Given the description of an element on the screen output the (x, y) to click on. 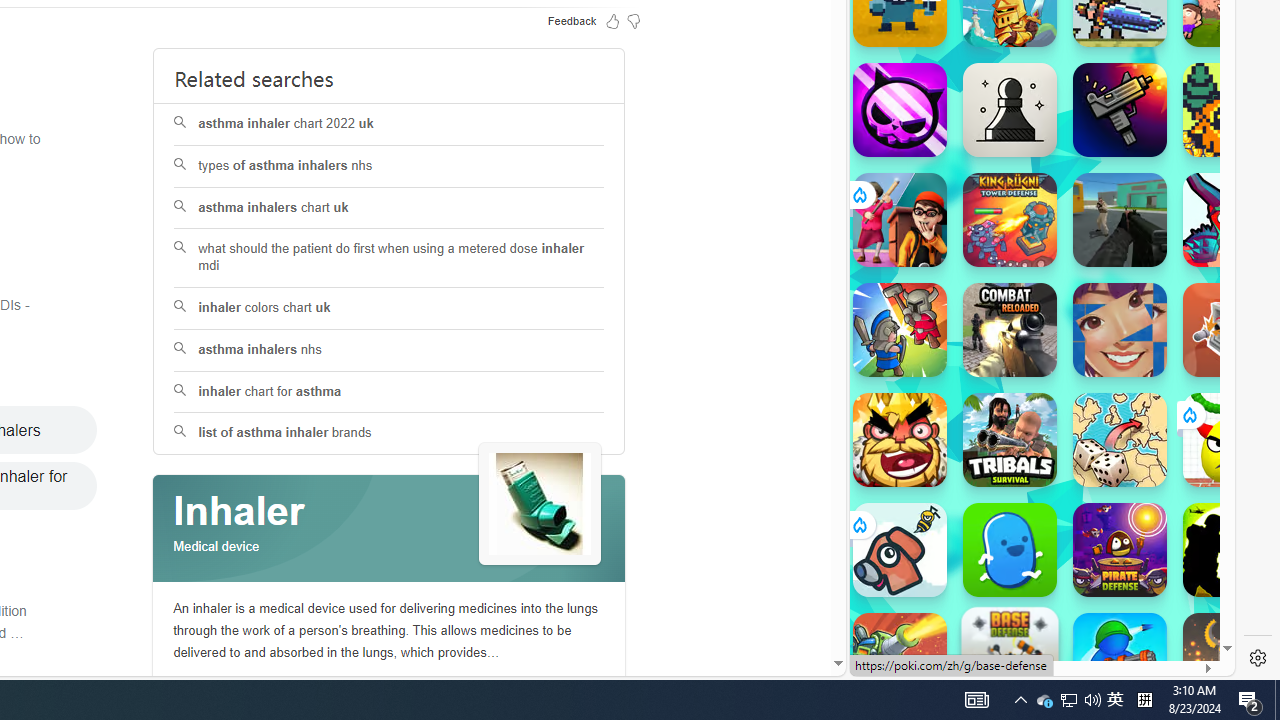
Hills of Steel (943, 200)
inhaler colors chart uk (388, 308)
Classic Chess Classic Chess (1009, 109)
Clash of Tanks Clash of Tanks (899, 659)
Combat Online Combat Online (1119, 219)
World Conquest World Conquest (1119, 439)
Save Dogogo (899, 549)
inhaler chart for asthma (389, 391)
Draw To Smash: Logic Puzzle Draw To Smash: Logic Puzzle (1229, 439)
Tower Defense Mingling (1229, 329)
Fury Wars Fury Wars (899, 109)
Like a King (899, 439)
